Given the description of an element on the screen output the (x, y) to click on. 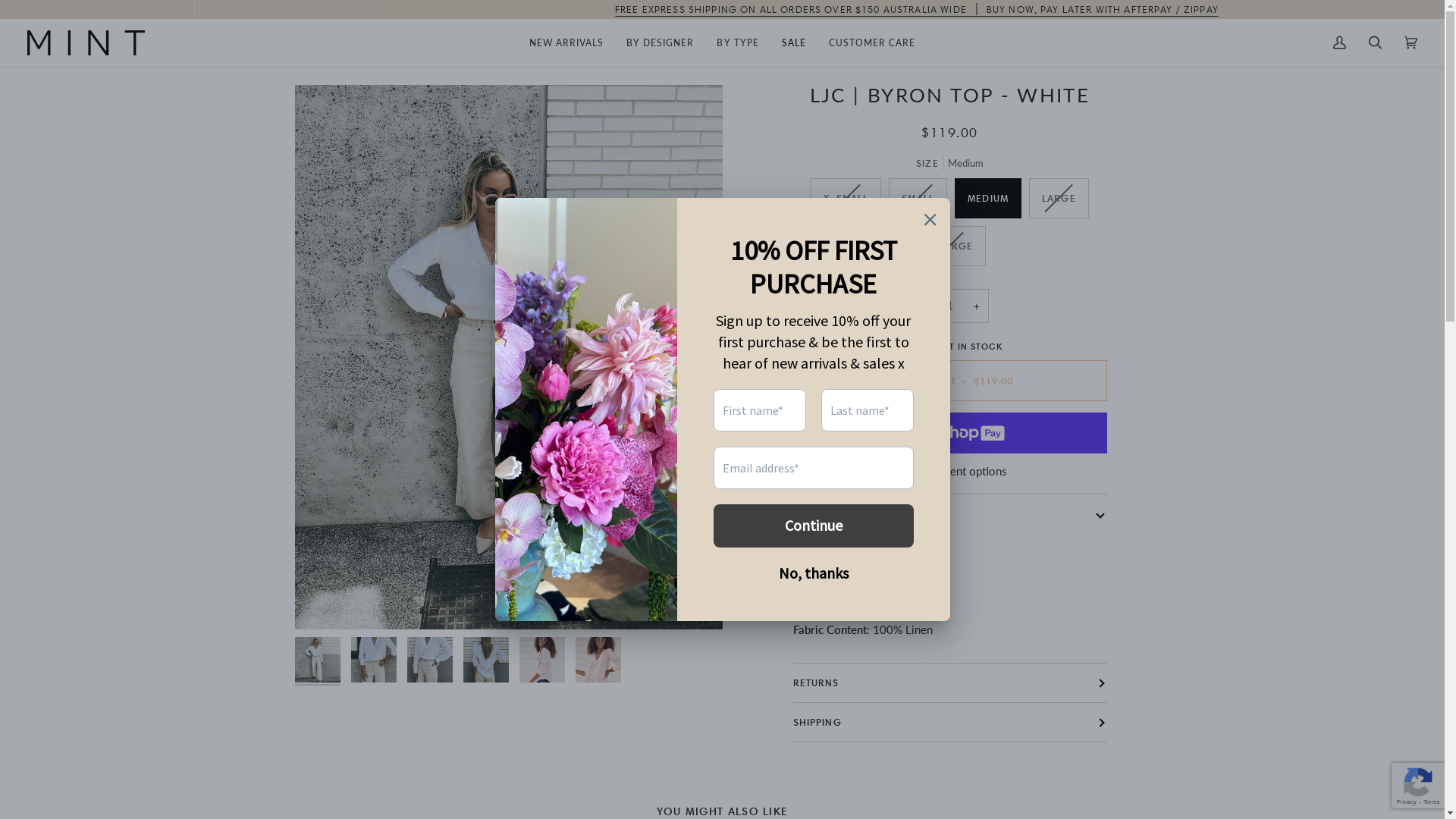
Cart
(0) Element type: text (1410, 42)
BY DESIGNER Element type: text (660, 42)
My Account Element type: text (1339, 42)
BY TYPE Element type: text (737, 42)
CUSTOMER CARE Element type: text (871, 42)
More payment options Element type: text (950, 471)
DESCRIPTION Element type: text (950, 513)
SALE Element type: text (793, 42)
NEW ARRIVALS Element type: text (566, 42)
Search Element type: text (1375, 42)
+ Element type: text (976, 305)
RETURNS Element type: text (950, 682)
SHIPPING Element type: text (950, 721)
